Given the description of an element on the screen output the (x, y) to click on. 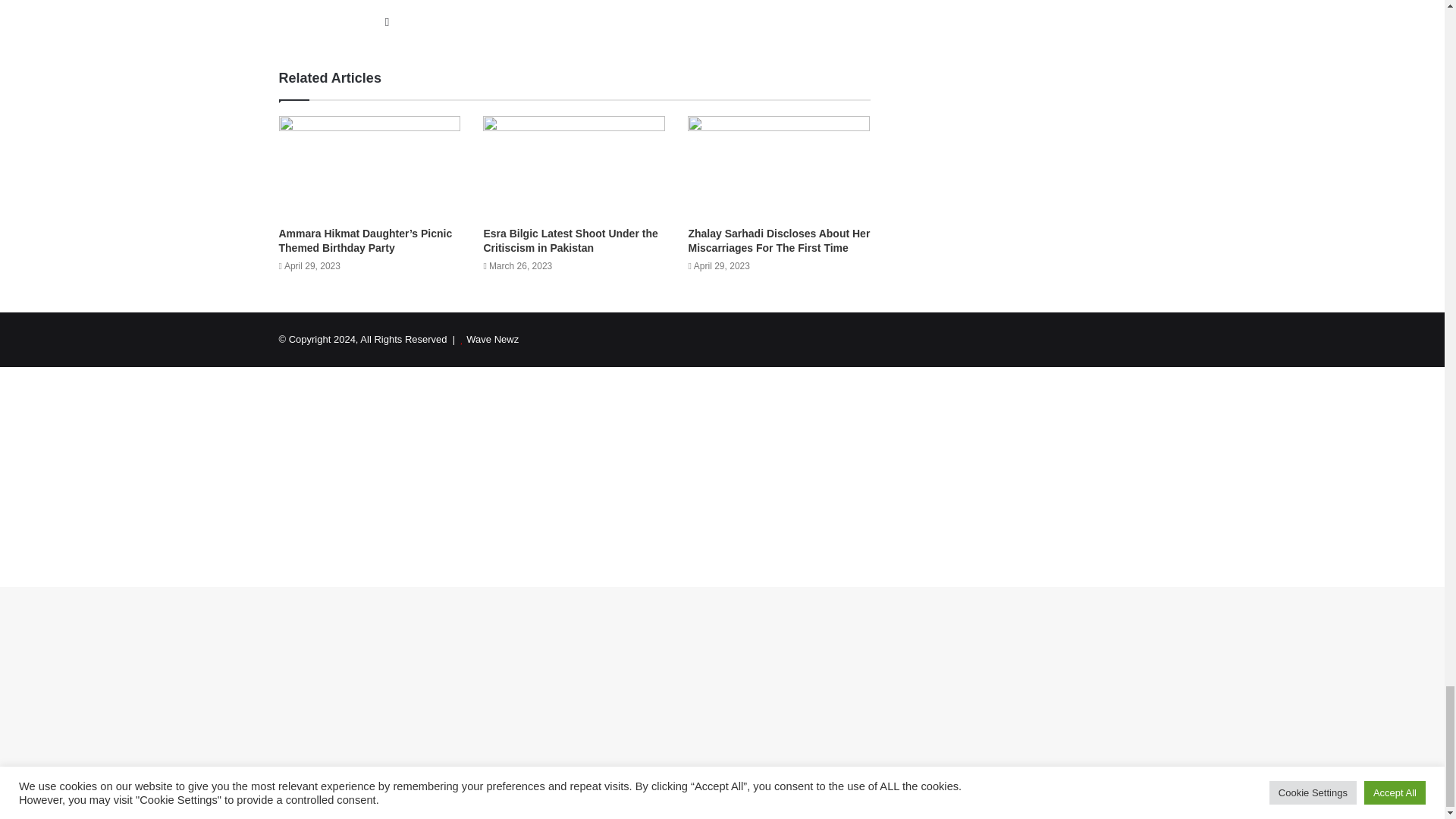
Amna Butt (411, 1)
Website (386, 22)
Esra Bilgic Latest Shoot Under the Critiscism in Pakistan (570, 240)
